Given the description of an element on the screen output the (x, y) to click on. 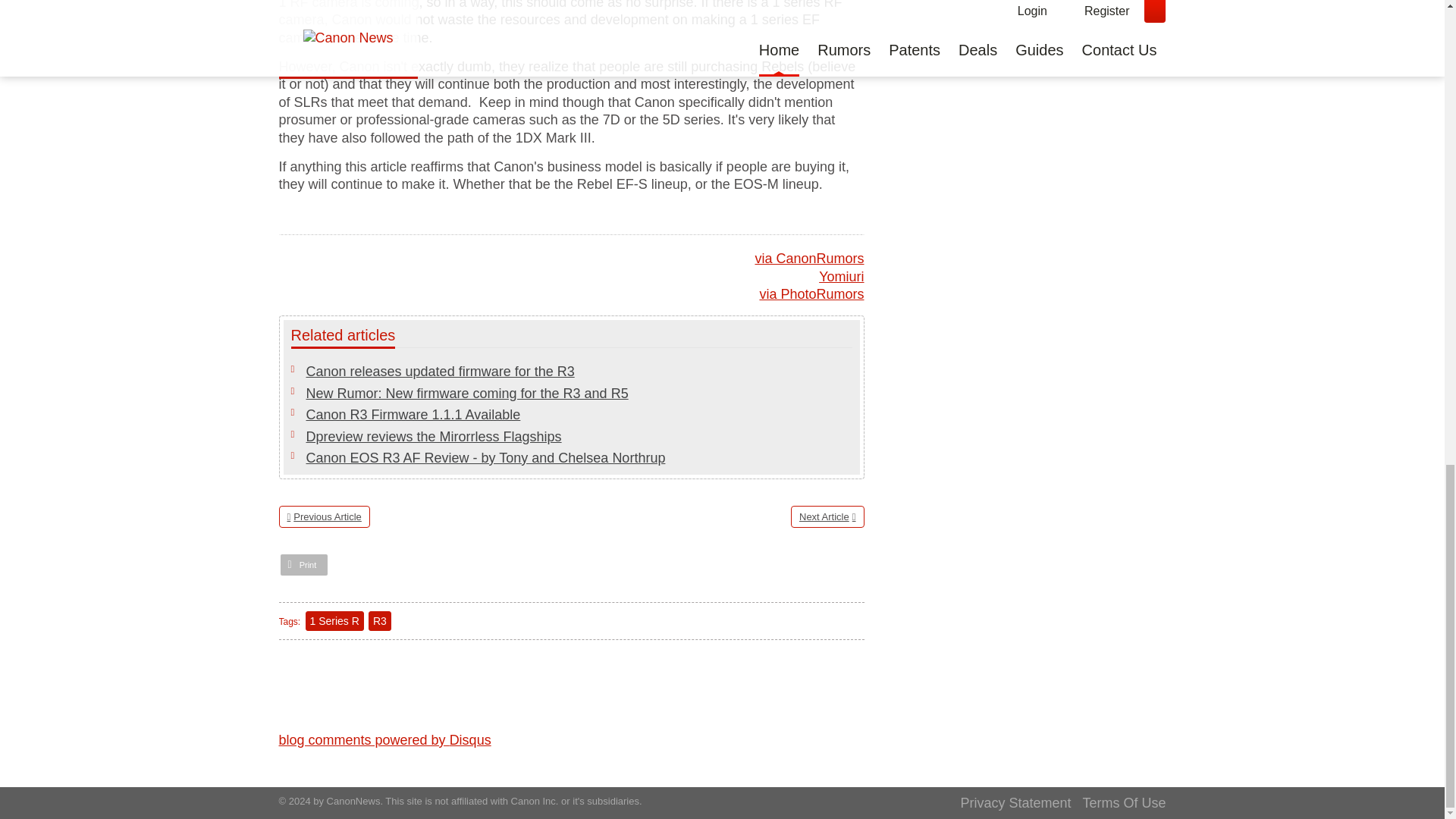
New Rumor: New firmware coming for the R3 and R5 (466, 393)
Yomiuri (840, 276)
Previous Article (324, 516)
via PhotoRumors (810, 294)
Canon EOS R3 AF Review - by Tony and Chelsea Northrup (485, 458)
Canon R3 Firmware 1.1.1 Available (413, 414)
1 Series R (334, 620)
Dpreview reviews the Mirorrless Flagships (433, 436)
blog comments powered by Disqus (385, 739)
R3 (379, 620)
